Given the description of an element on the screen output the (x, y) to click on. 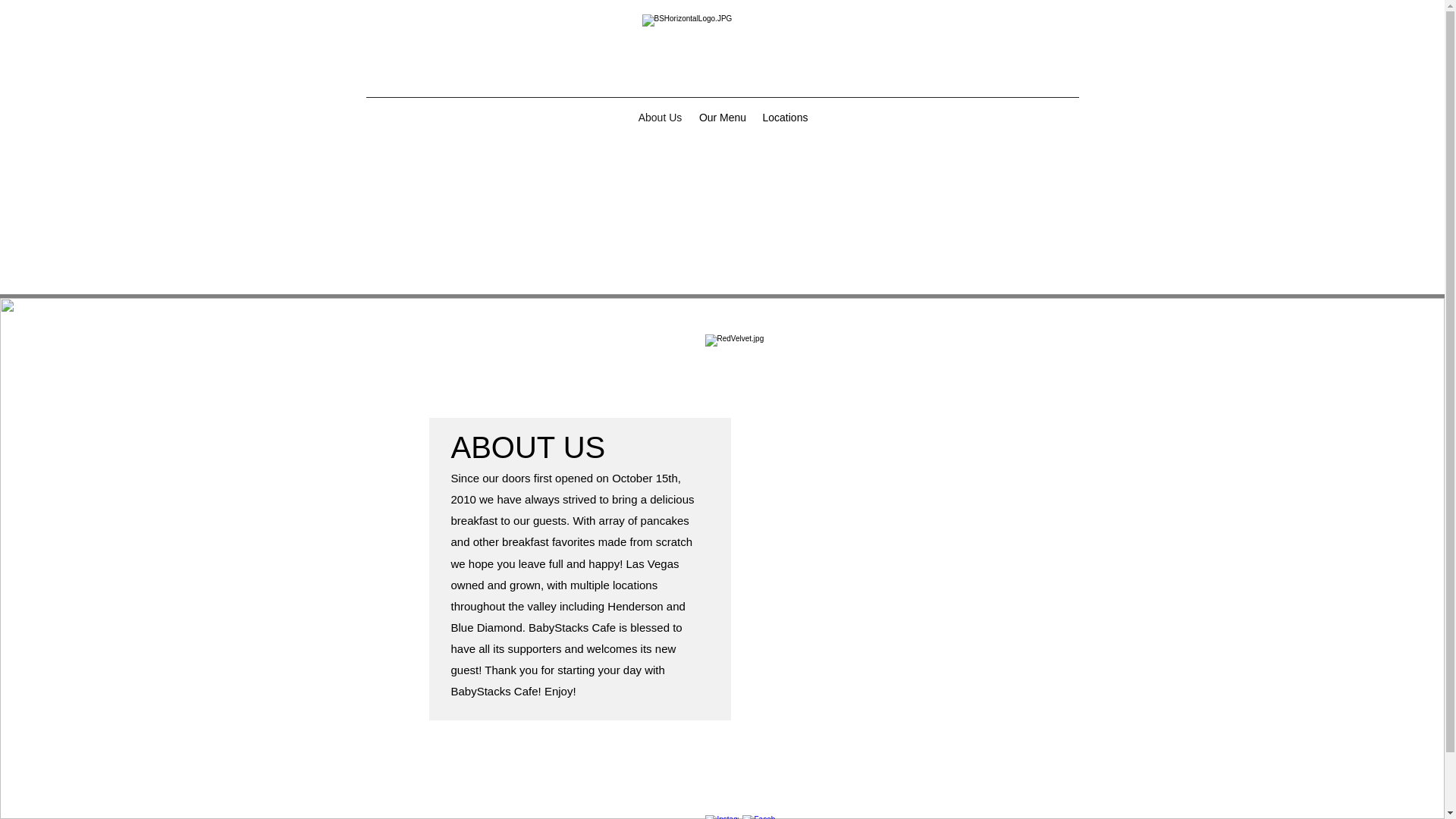
BSCircleLogo.png (730, 44)
About Us (659, 117)
Our Menu (722, 117)
Locations (785, 117)
